Given the description of an element on the screen output the (x, y) to click on. 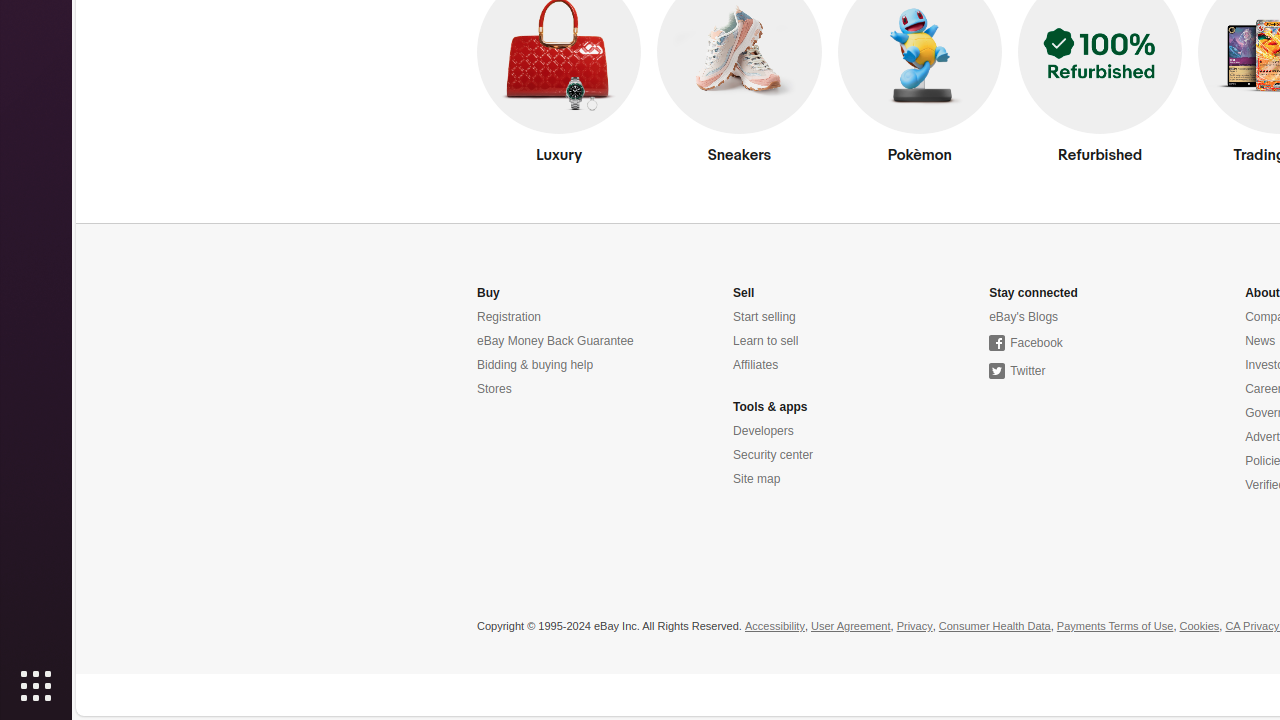
Site map Element type: link (757, 479)
Start selling Element type: link (764, 317)
Twitter Element type: link (1017, 371)
User Agreement Element type: link (851, 627)
Payments Terms of Use Element type: link (1115, 627)
